Given the description of an element on the screen output the (x, y) to click on. 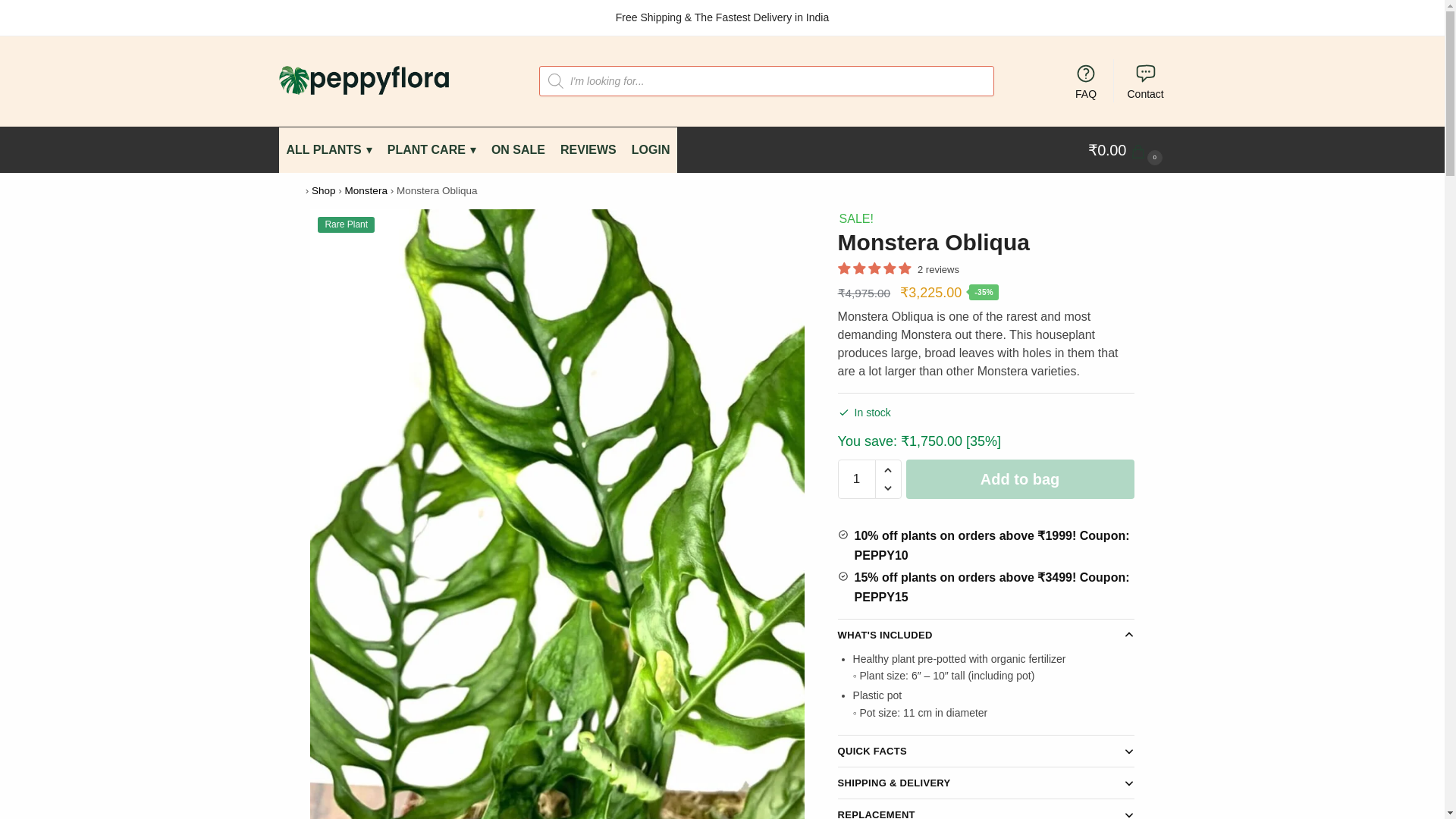
FAQ (1085, 80)
1 (857, 478)
View your Shopping bag (1126, 149)
ALL PLANTS (329, 149)
Contact (1145, 80)
